Given the description of an element on the screen output the (x, y) to click on. 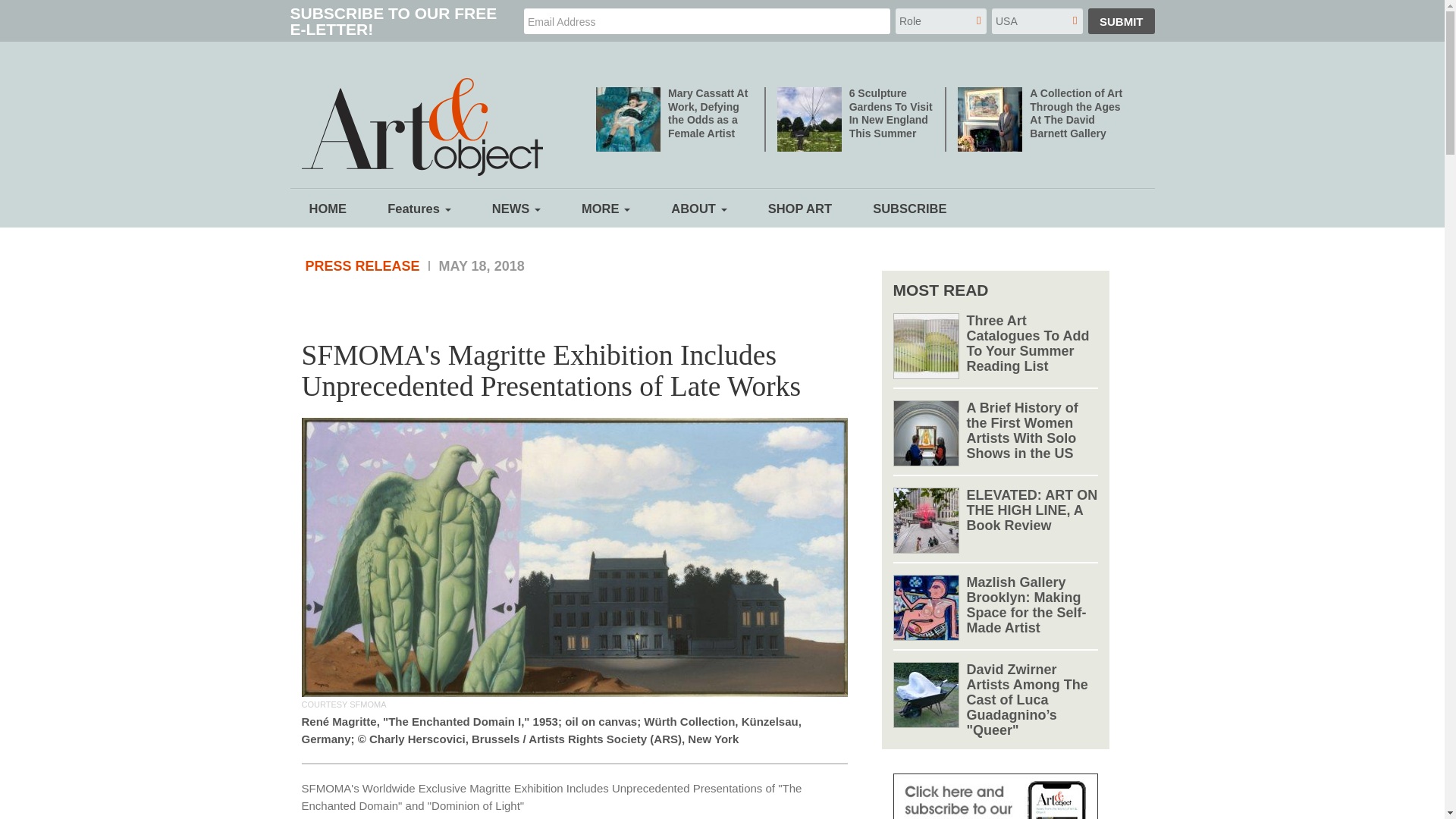
Mary Cassatt At Work, Defying the Odds as a Female Artist (708, 112)
NEWS (516, 208)
Features (418, 208)
HOME (327, 208)
MORE (605, 208)
6 Sculpture Gardens To Visit In New England This Summer (890, 112)
SUBMIT (1120, 21)
Home (427, 130)
